Given the description of an element on the screen output the (x, y) to click on. 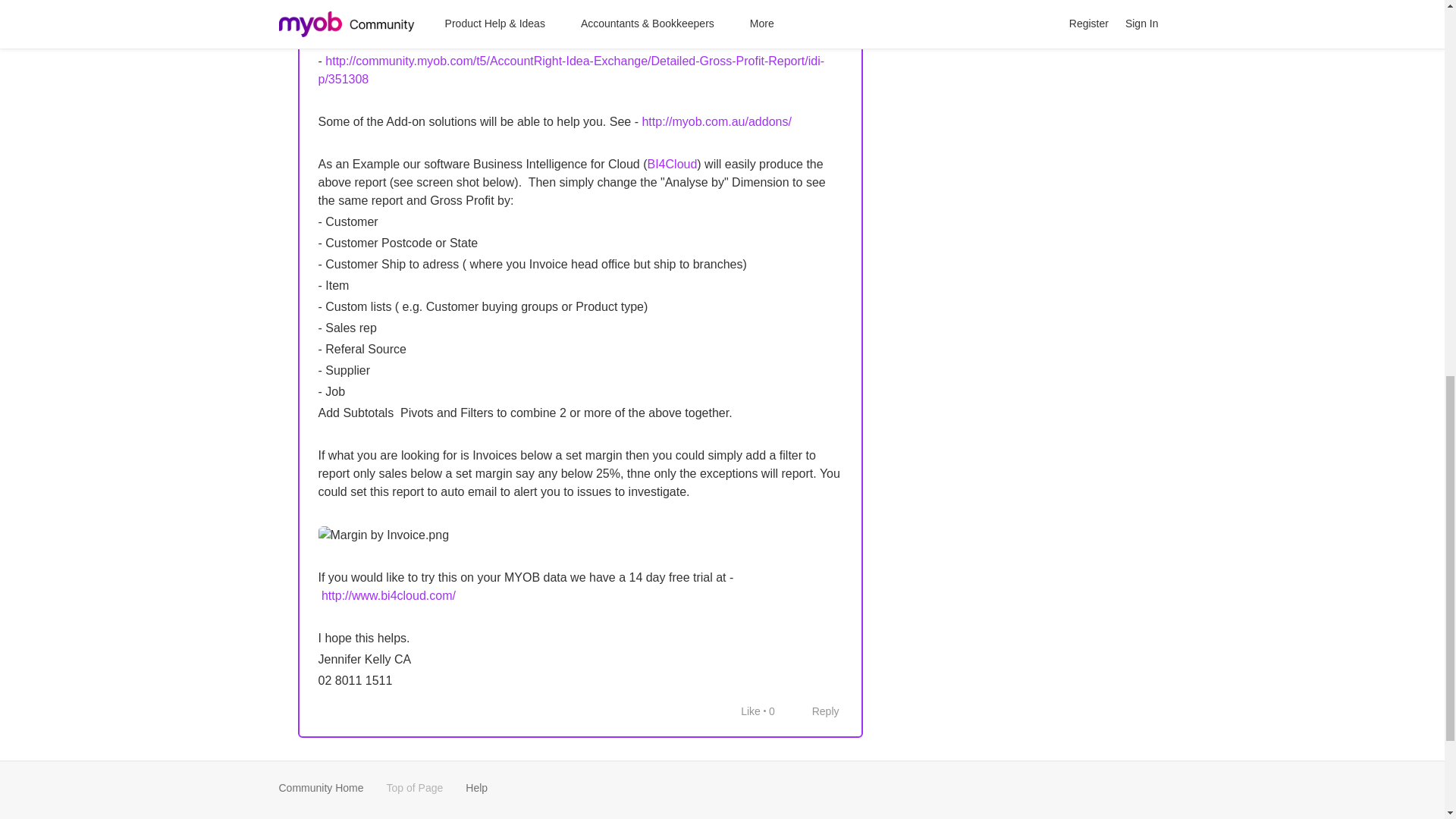
Margin by Invoice.png (383, 535)
